Given the description of an element on the screen output the (x, y) to click on. 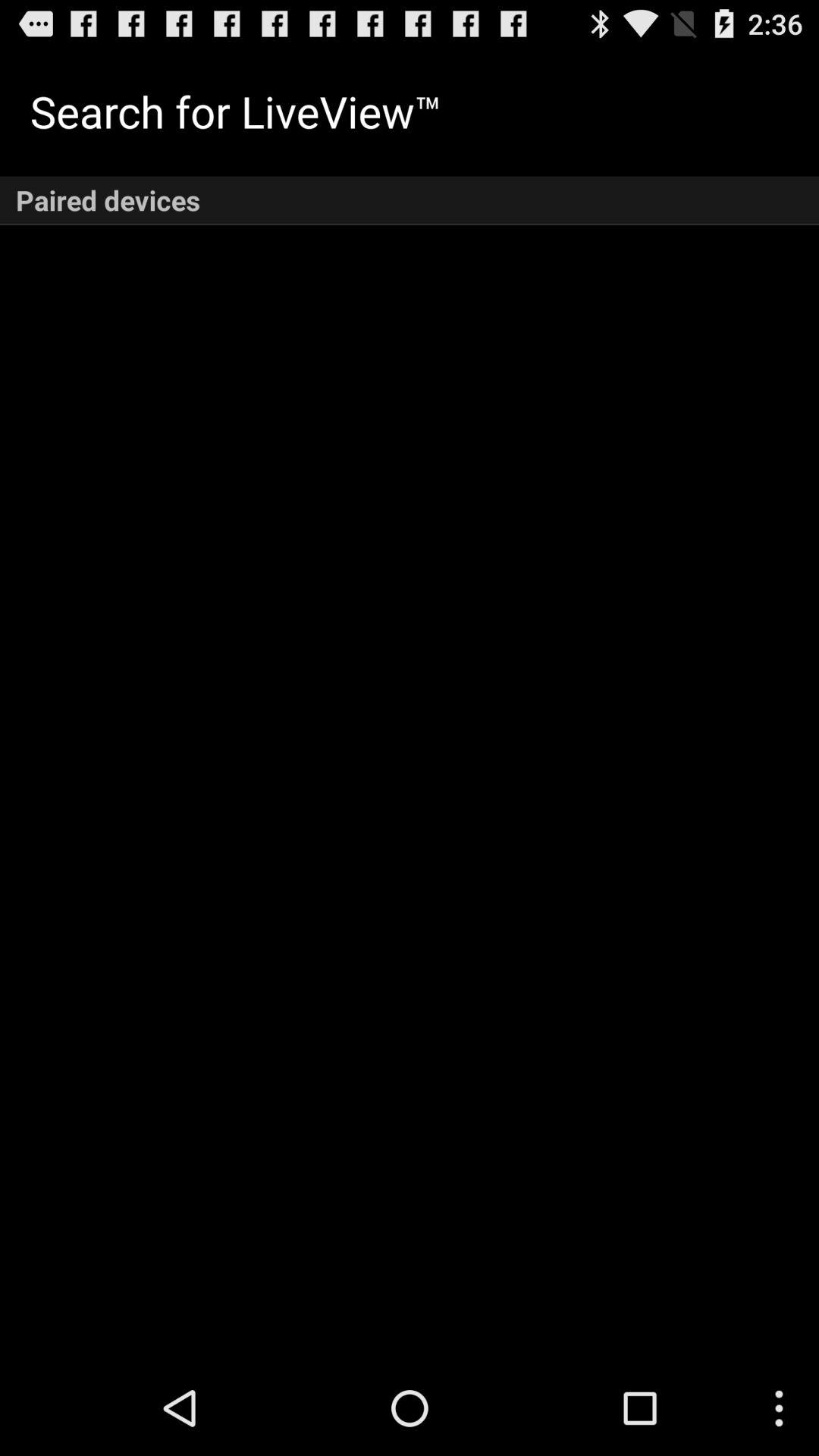
turn off app at the top (409, 200)
